Given the description of an element on the screen output the (x, y) to click on. 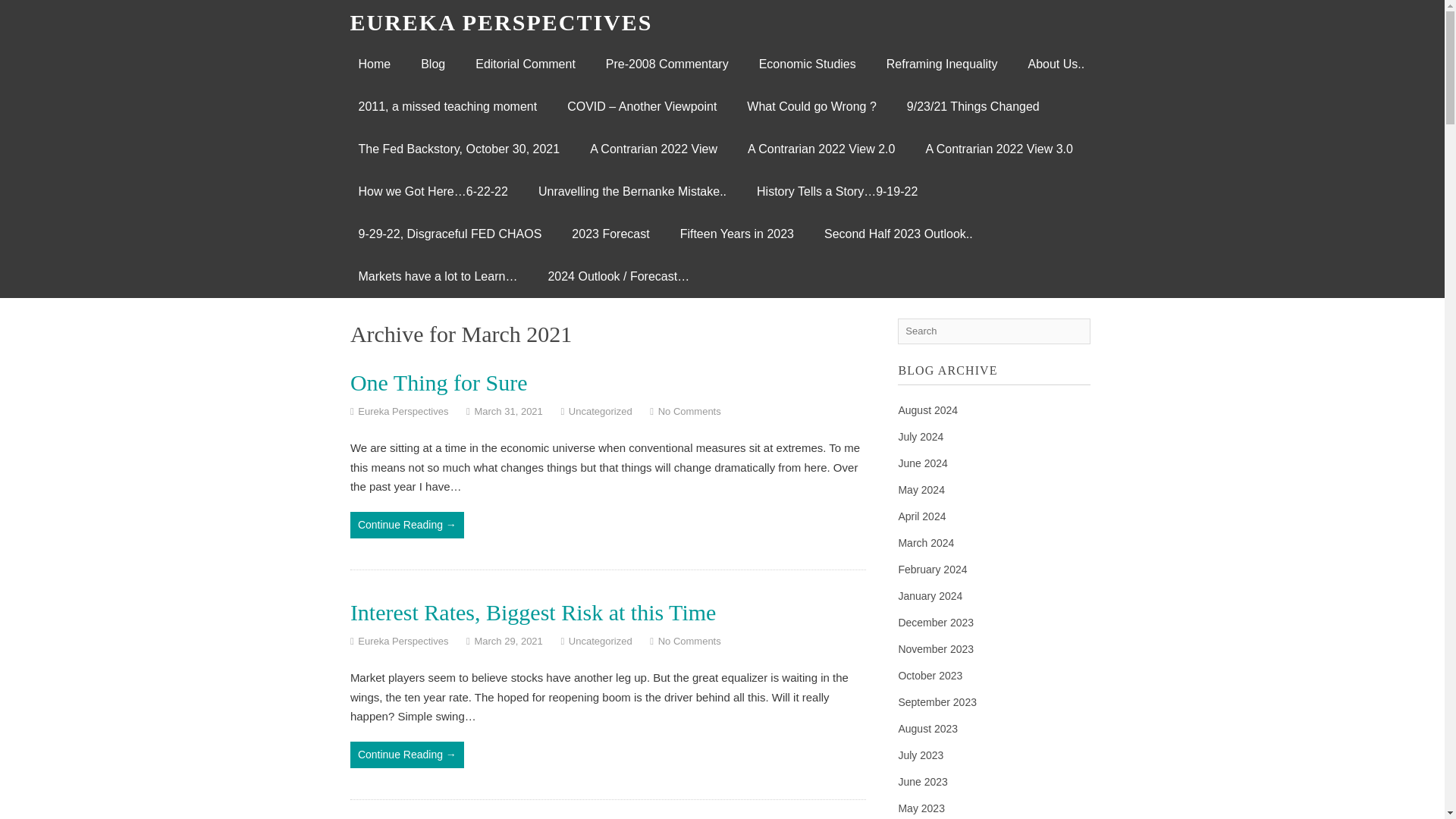
Home (374, 64)
Uncategorized (600, 410)
9-29-22, Disgraceful FED CHAOS (449, 233)
Interest Rates, Biggest Risk at this Time (533, 611)
Unravelling the Bernanke Mistake.. (631, 191)
Editorial Comment (525, 64)
EUREKA PERSPECTIVES (501, 22)
One Thing for Sure (438, 382)
About Us.. (1055, 64)
Fifteen Years in 2023 (737, 233)
